Given the description of an element on the screen output the (x, y) to click on. 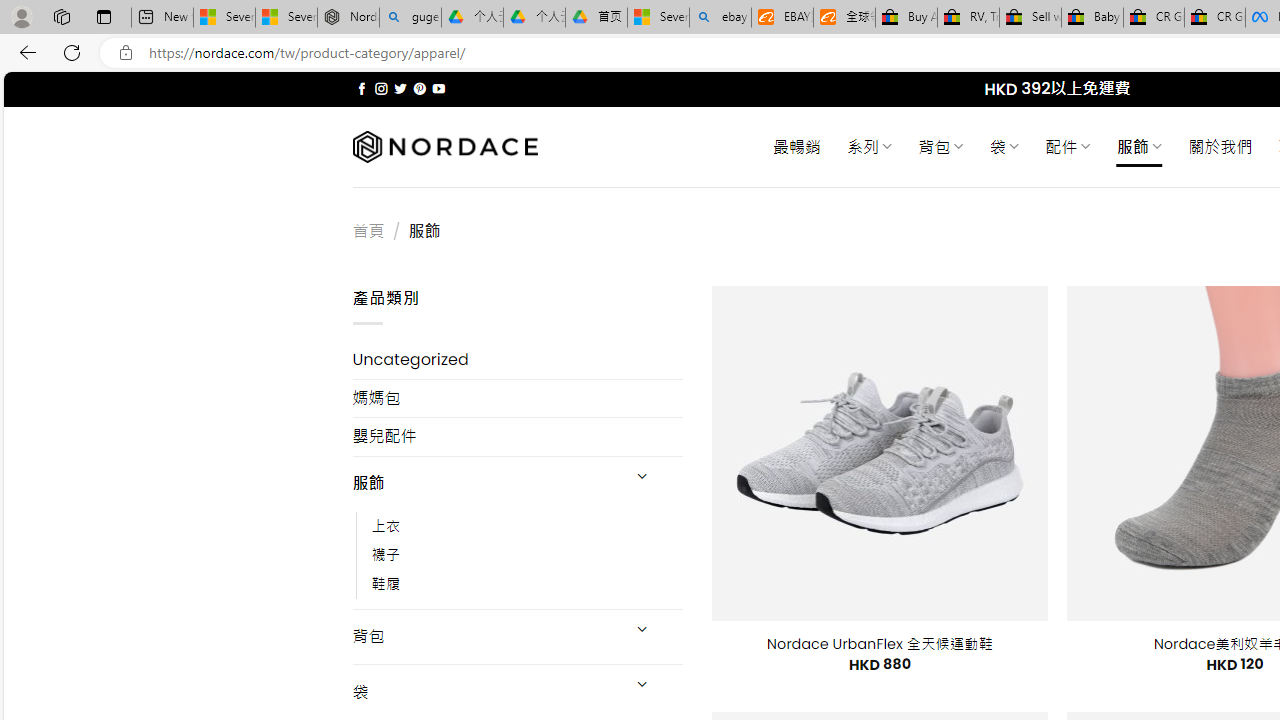
Sell worldwide with eBay (1030, 17)
Follow on YouTube (438, 88)
Follow on Instagram (381, 88)
RV, Trailer & Camper Steps & Ladders for sale | eBay (968, 17)
